Given the description of an element on the screen output the (x, y) to click on. 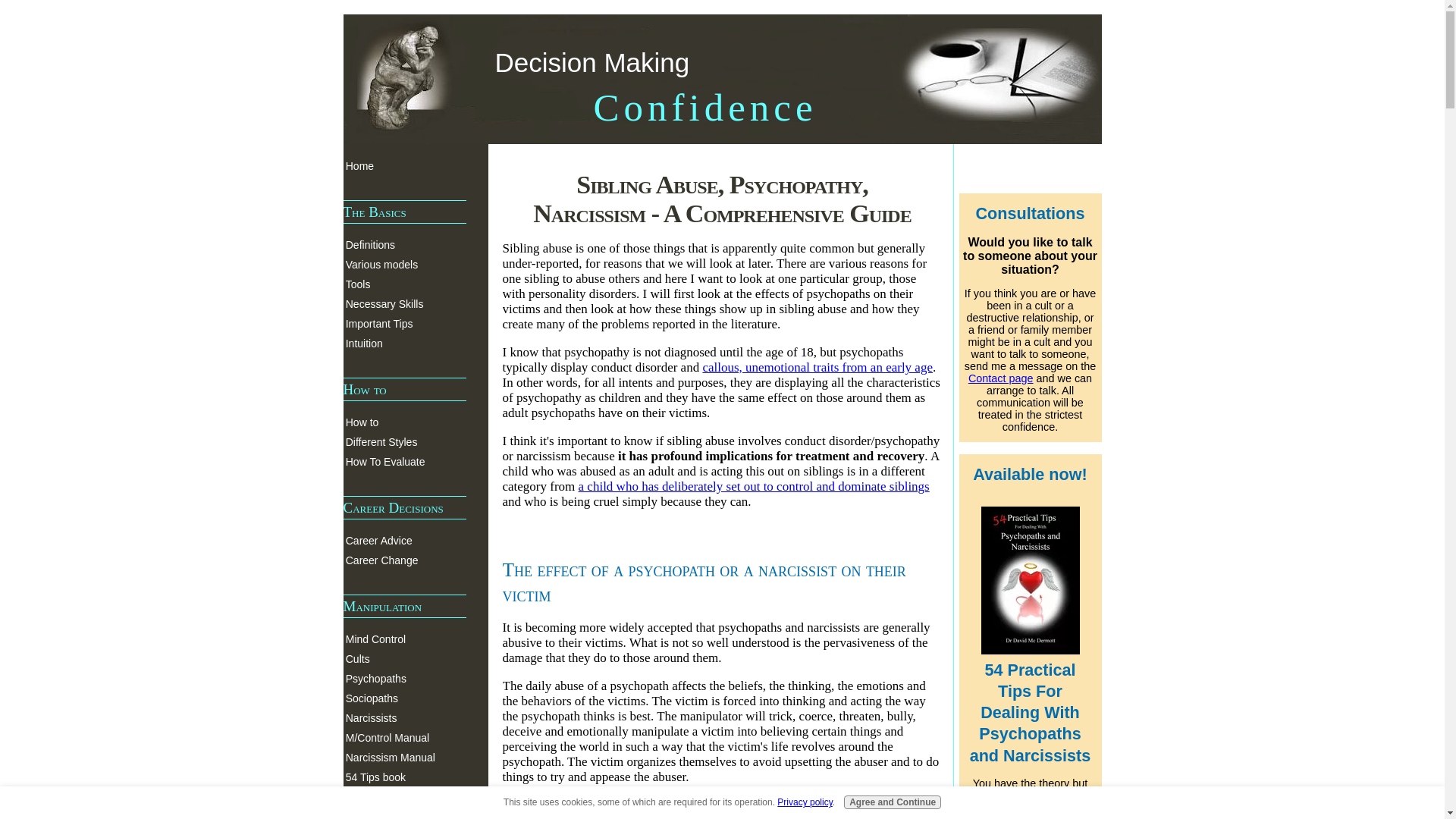
callous, unemotional traits from an early age (817, 367)
Decision Making (591, 61)
